Given the description of an element on the screen output the (x, y) to click on. 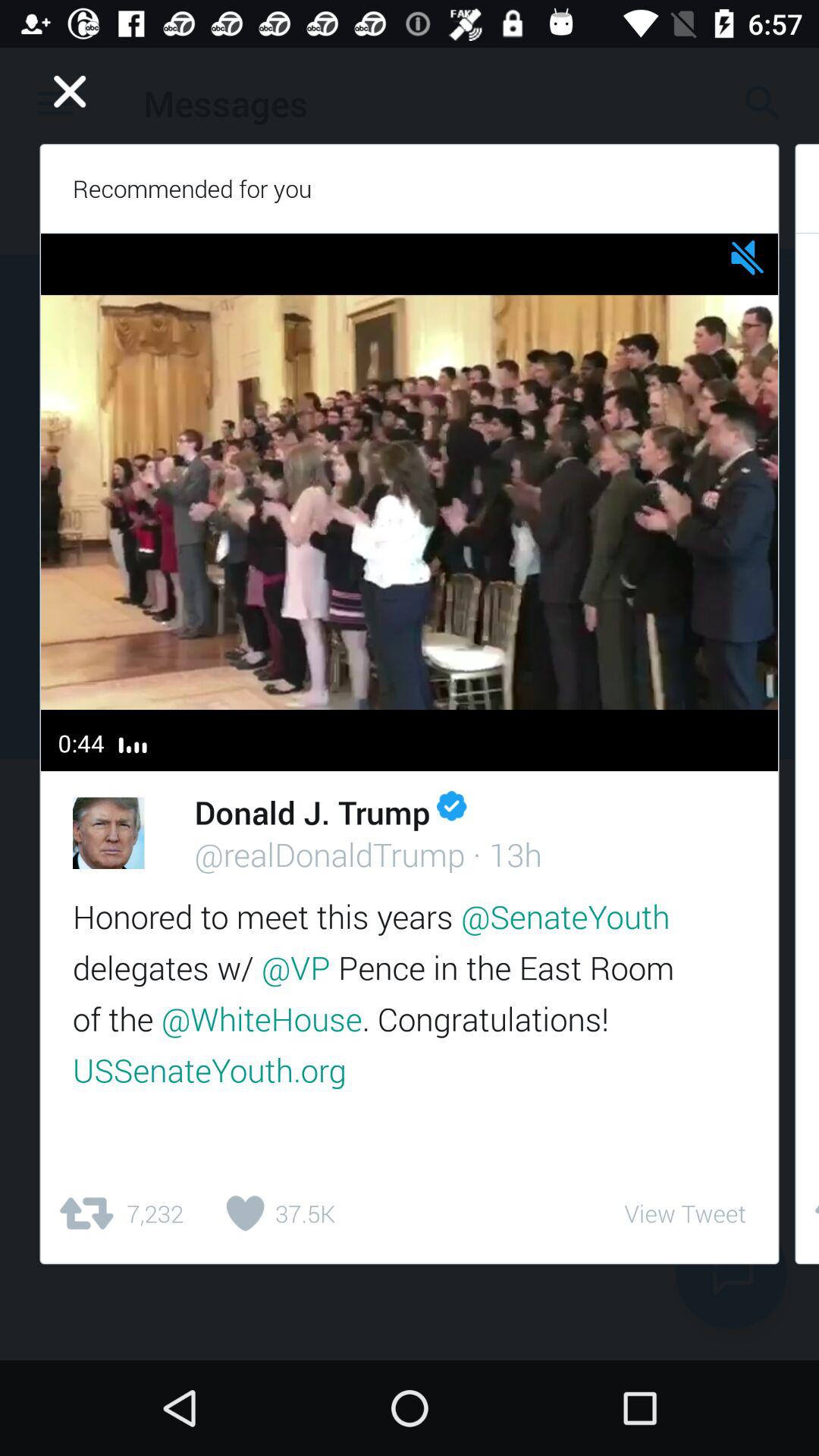
launch the item to the right of the view tweet icon (807, 1213)
